Given the description of an element on the screen output the (x, y) to click on. 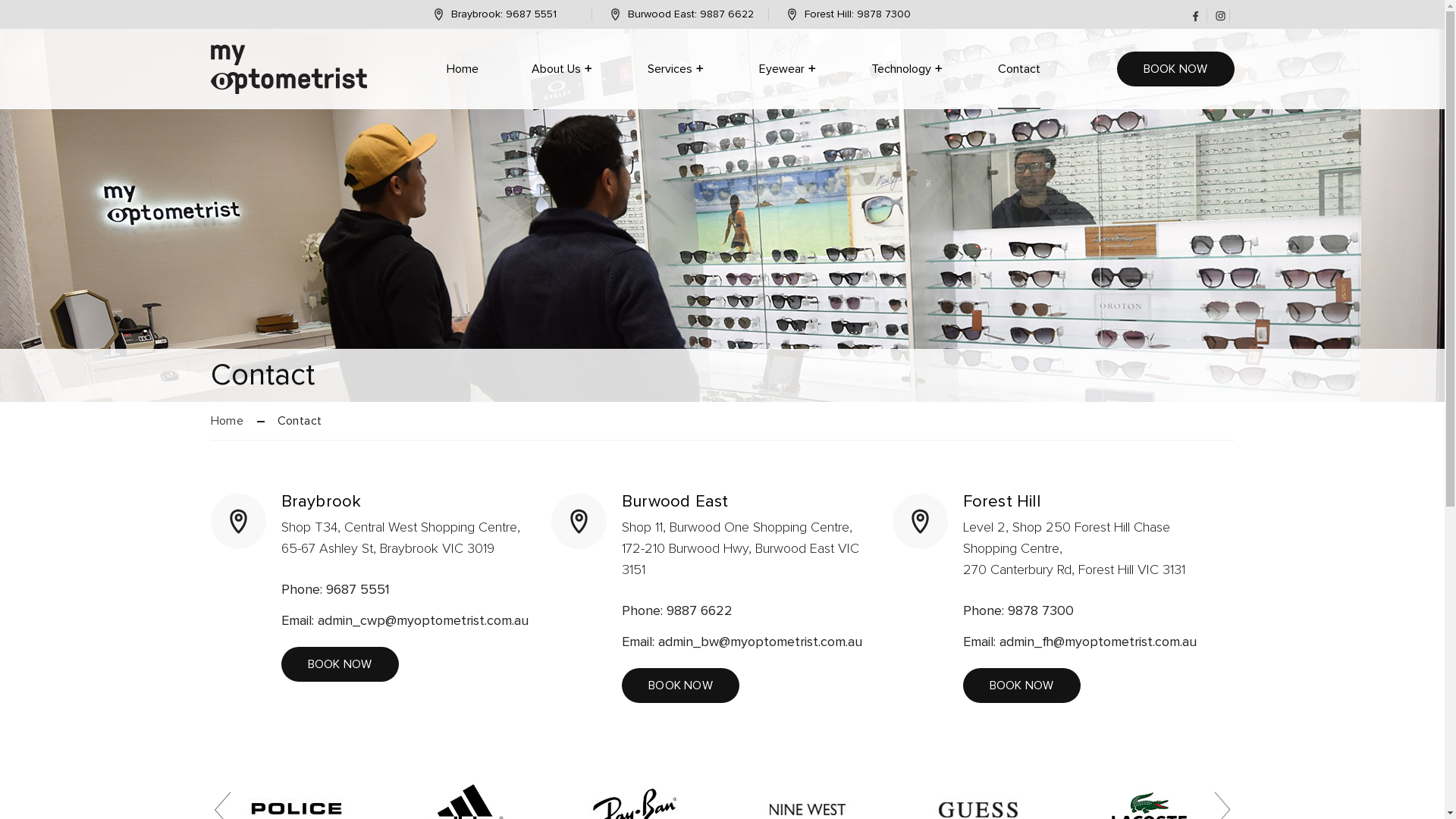
Phone: 9887 6622 Element type: text (749, 615)
Email: admin_bw@myoptometrist.com.au Element type: text (749, 646)
Diabetes Element type: text (729, 116)
landmark_icon Element type: hover (919, 521)
OCT Element type: text (922, 115)
icon Element type: hover (1219, 15)
Services Element type: text (676, 68)
Frames Element type: text (816, 115)
Contact Element type: text (1018, 68)
Lenses Element type: text (816, 115)
Retinal camera Element type: text (949, 115)
landmark_icon Element type: hover (578, 521)
Technology Element type: text (907, 68)
Email: admin_fh@myoptometrist.com.au Element type: text (1090, 646)
landmark_icon Element type: hover (238, 521)
Sunglasses Element type: text (827, 115)
Phone: 9687 5551 Element type: text (408, 594)
Optos Daytona Element type: text (951, 115)
Myopia Control Element type: text (521, 117)
Medmont Automated Perimeter Element type: text (968, 125)
Our Team Element type: text (596, 115)
landmark_icon Element type: hover (437, 14)
Lens Experts Element type: text (511, 115)
About Us Element type: text (561, 68)
landmark_icon Element type: hover (791, 14)
icon Element type: hover (1195, 15)
9878 7300 Element type: text (883, 13)
BOOK NOW Element type: text (1174, 68)
Eye Examinations Element type: text (528, 117)
Contact Lenses Element type: text (840, 115)
9687 5551 Element type: text (530, 13)
9887 6622 Element type: text (726, 13)
Soft Myopia Control Contact Lenses Element type: text (567, 124)
Cataracts Element type: text (567, 116)
Home Element type: text (461, 68)
Home Element type: text (227, 420)
Medmont E300 Corneal Topographer Element type: text (976, 125)
landmark_icon Element type: hover (615, 14)
Email: admin_cwp@myoptometrist.com.au Element type: text (408, 625)
Eyewear Element type: text (787, 68)
Phone: 9878 7300 Element type: text (1090, 615)
